Given the description of an element on the screen output the (x, y) to click on. 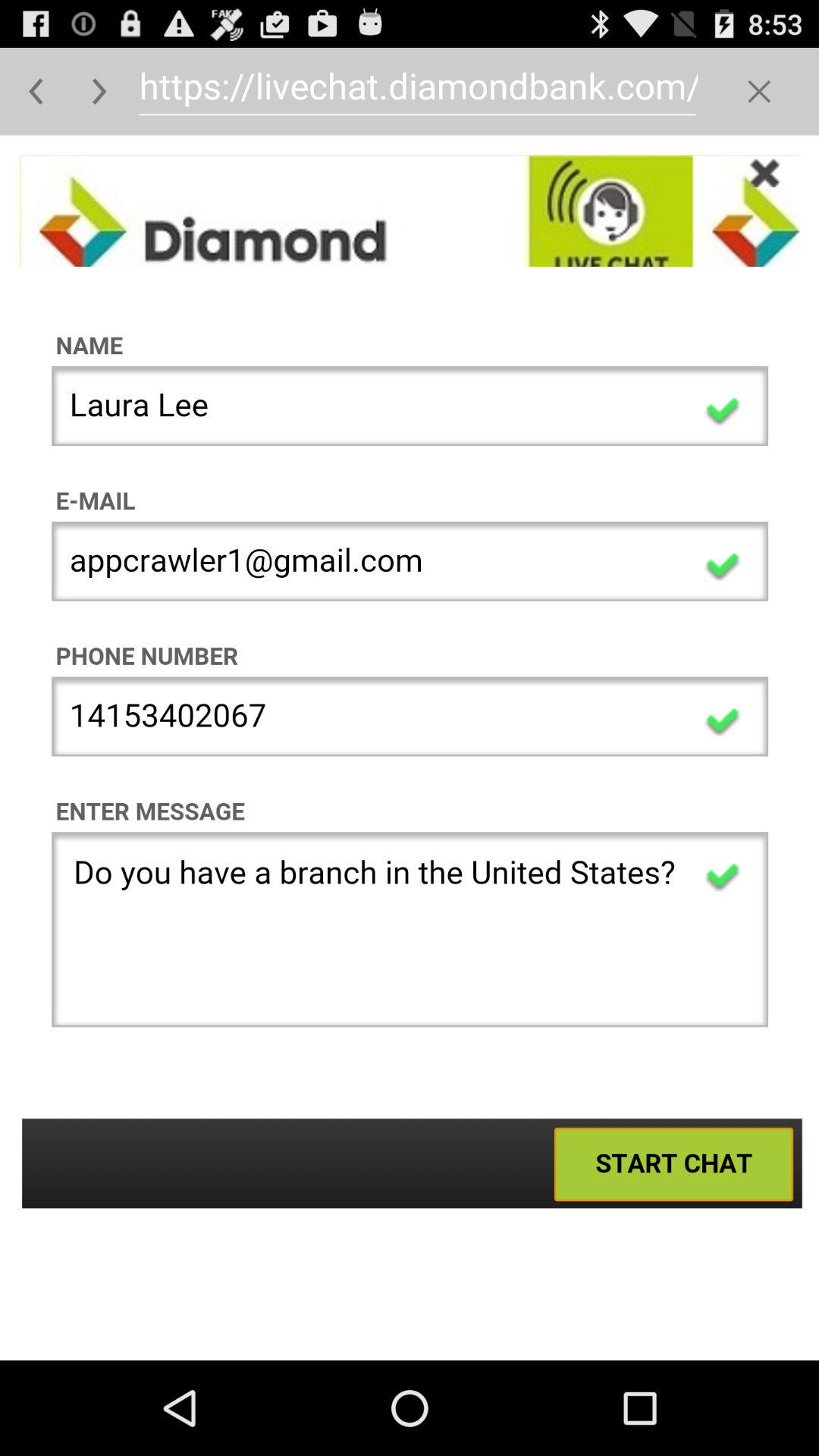
close button (759, 91)
